Given the description of an element on the screen output the (x, y) to click on. 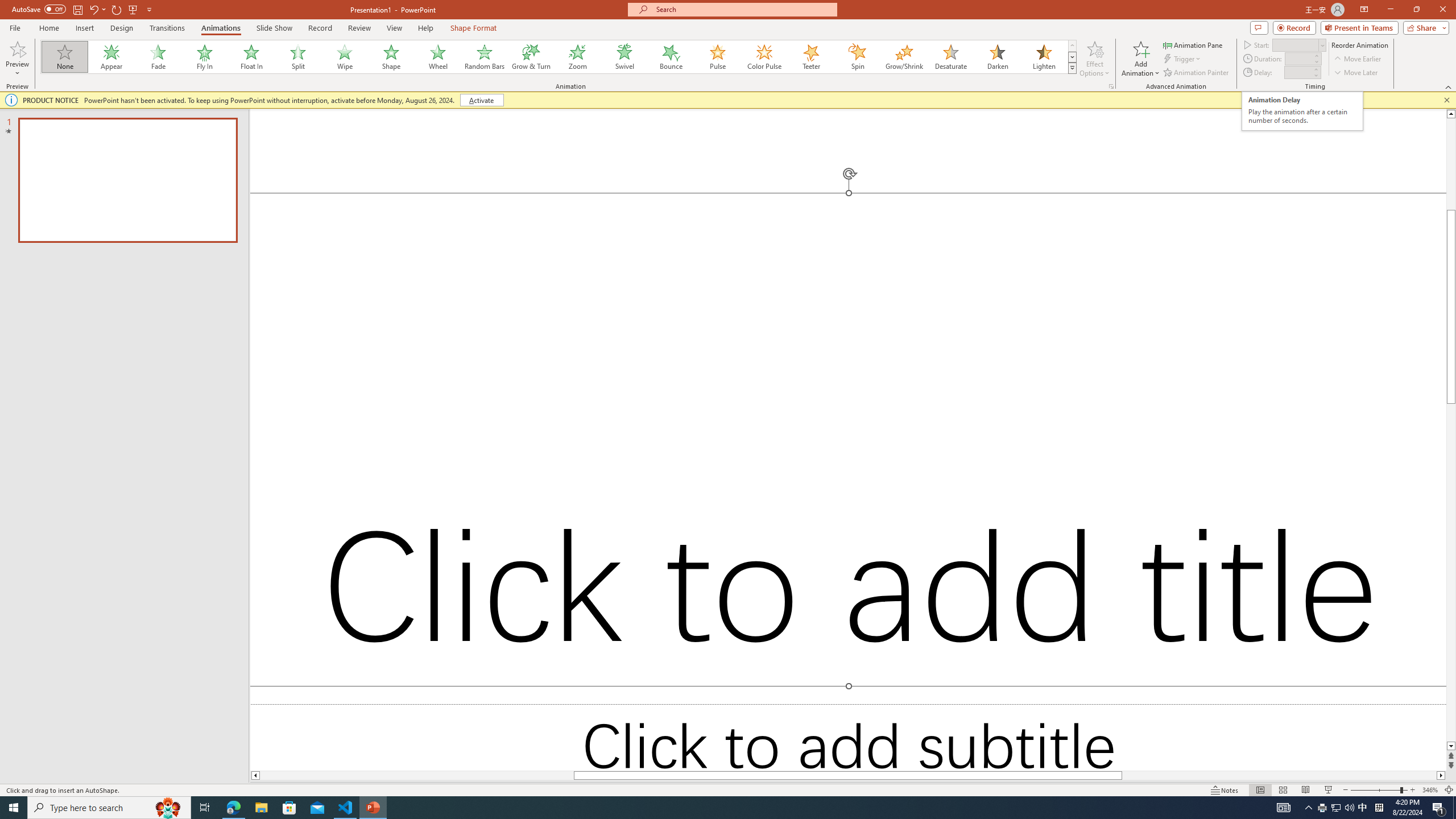
Grow/Shrink (903, 56)
Shape Format (473, 28)
Close this message (1446, 99)
Lighten (1043, 56)
Bounce (670, 56)
Animation Delay (1297, 72)
